Given the description of an element on the screen output the (x, y) to click on. 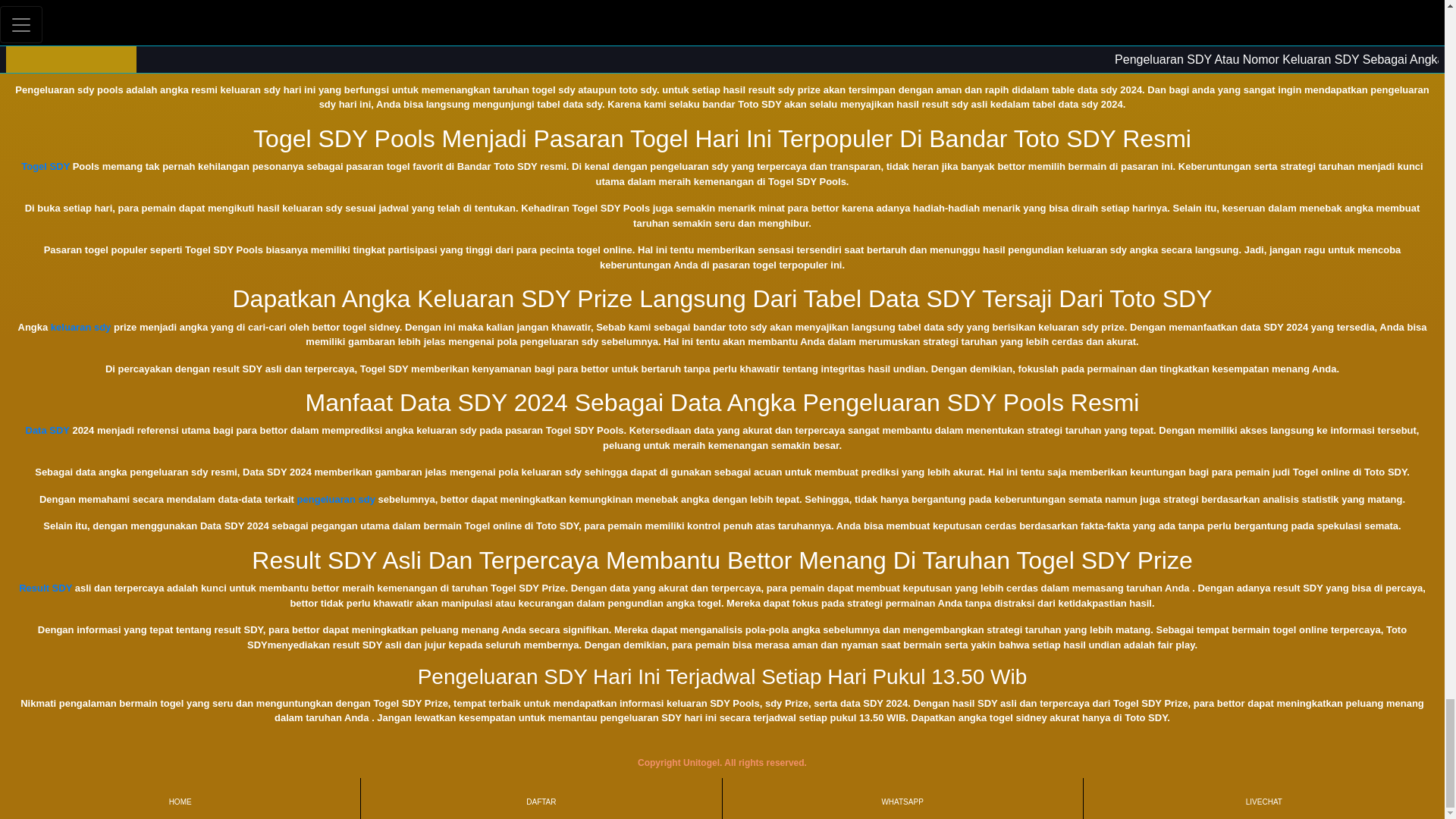
Result SDY (44, 587)
Data SDY (47, 430)
Togel SDY (45, 165)
pengeluaran sdy (336, 499)
keluaran sdy (81, 326)
